Given the description of an element on the screen output the (x, y) to click on. 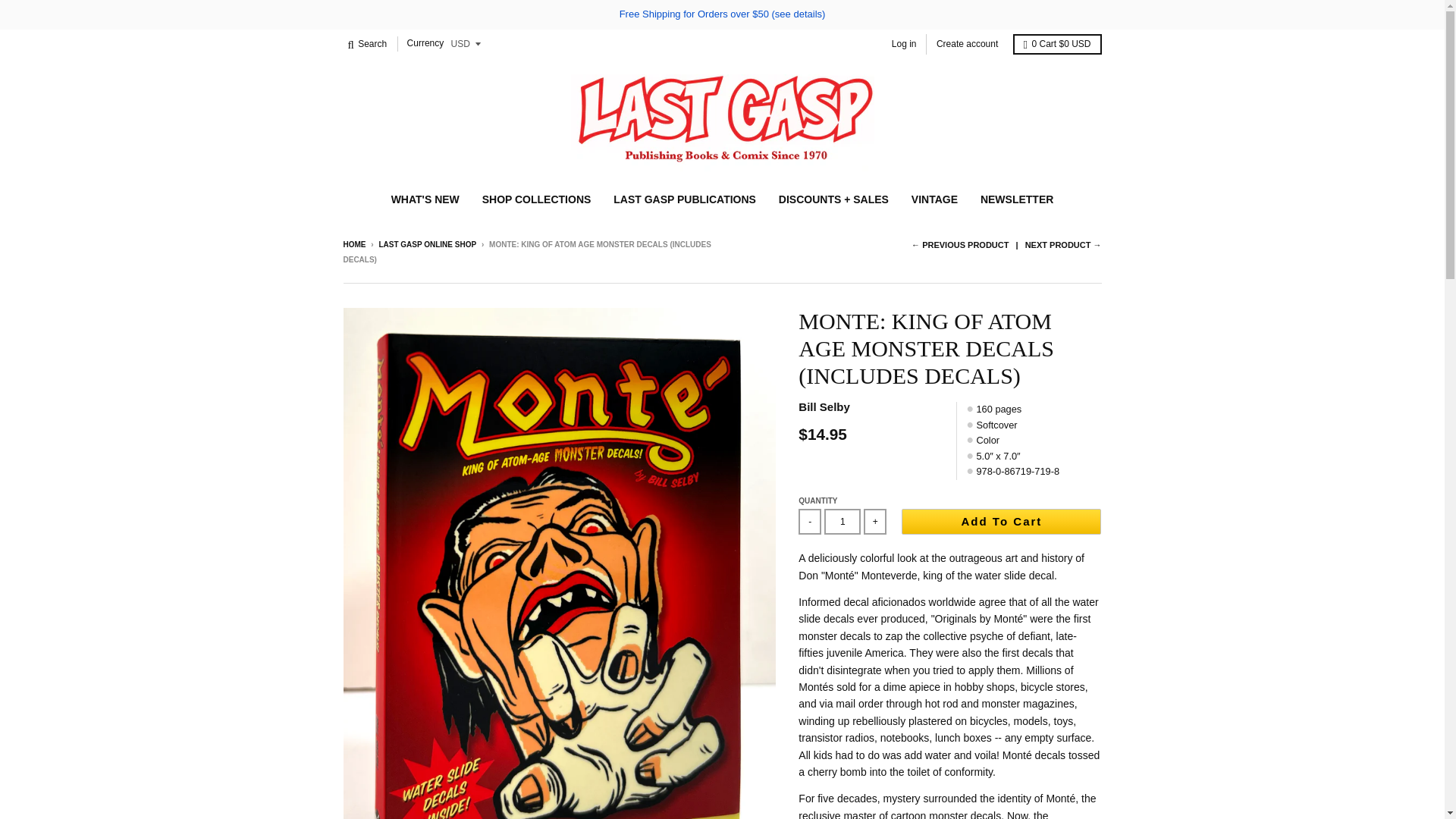
SHOP COLLECTIONS (536, 198)
NEWSLETTER (1016, 198)
WHAT'S NEW (424, 198)
LAST GASP PUBLICATIONS (684, 198)
Log in (903, 44)
Bill Selby (823, 407)
HOME (353, 244)
Search (366, 44)
1 (842, 521)
LAST GASP ONLINE SHOP (427, 244)
Back to the frontpage (353, 244)
Create account (967, 44)
VINTAGE (934, 198)
